Given the description of an element on the screen output the (x, y) to click on. 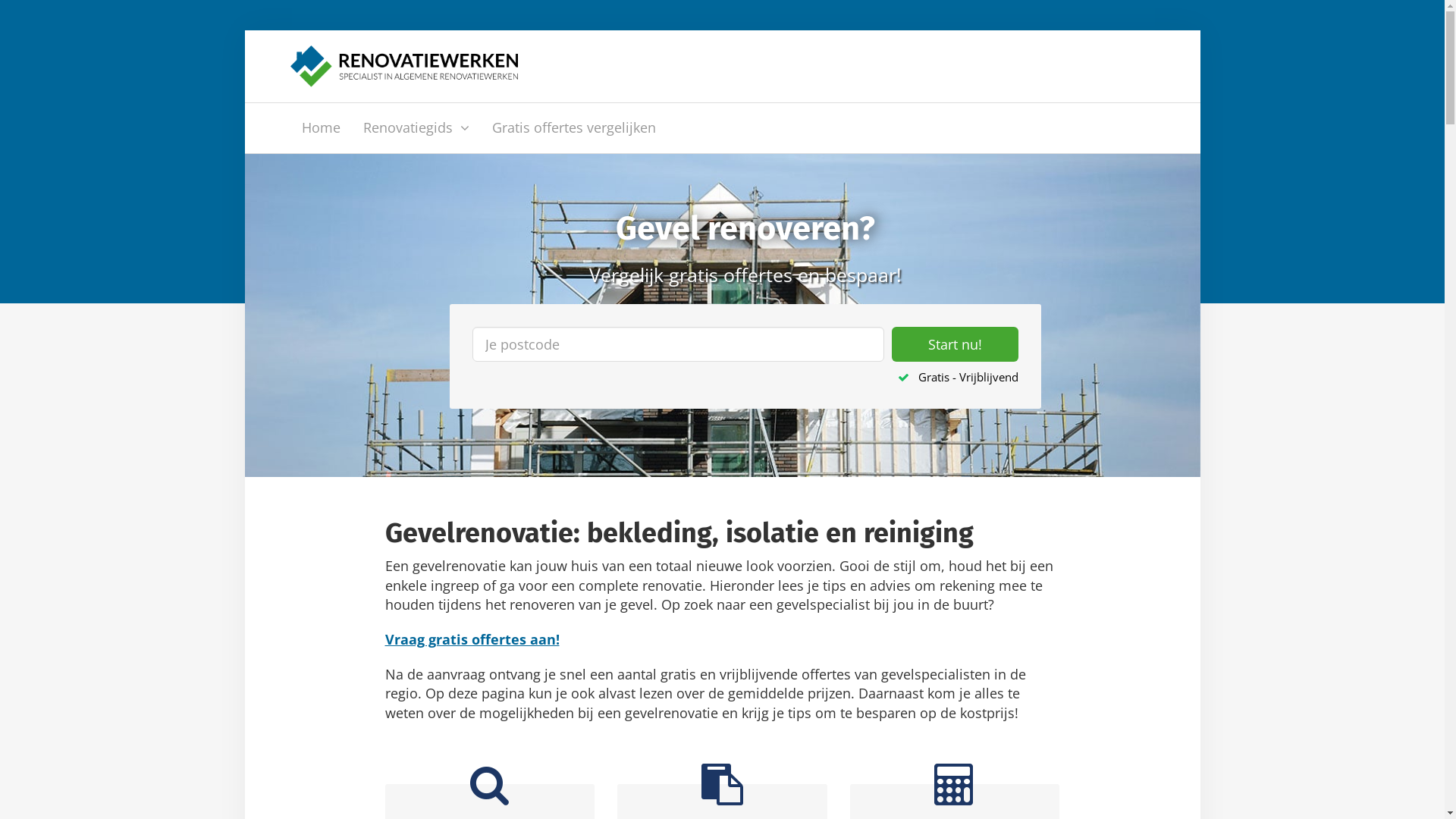
Home Element type: text (320, 128)
Renovatiegids Element type: text (415, 128)
Vraag gratis offertes aan! Element type: text (472, 639)
Algemene renovatiewerken Element type: hover (403, 63)
Start nu! Element type: text (954, 343)
Gratis offertes vergelijken Element type: text (573, 128)
